Given the description of an element on the screen output the (x, y) to click on. 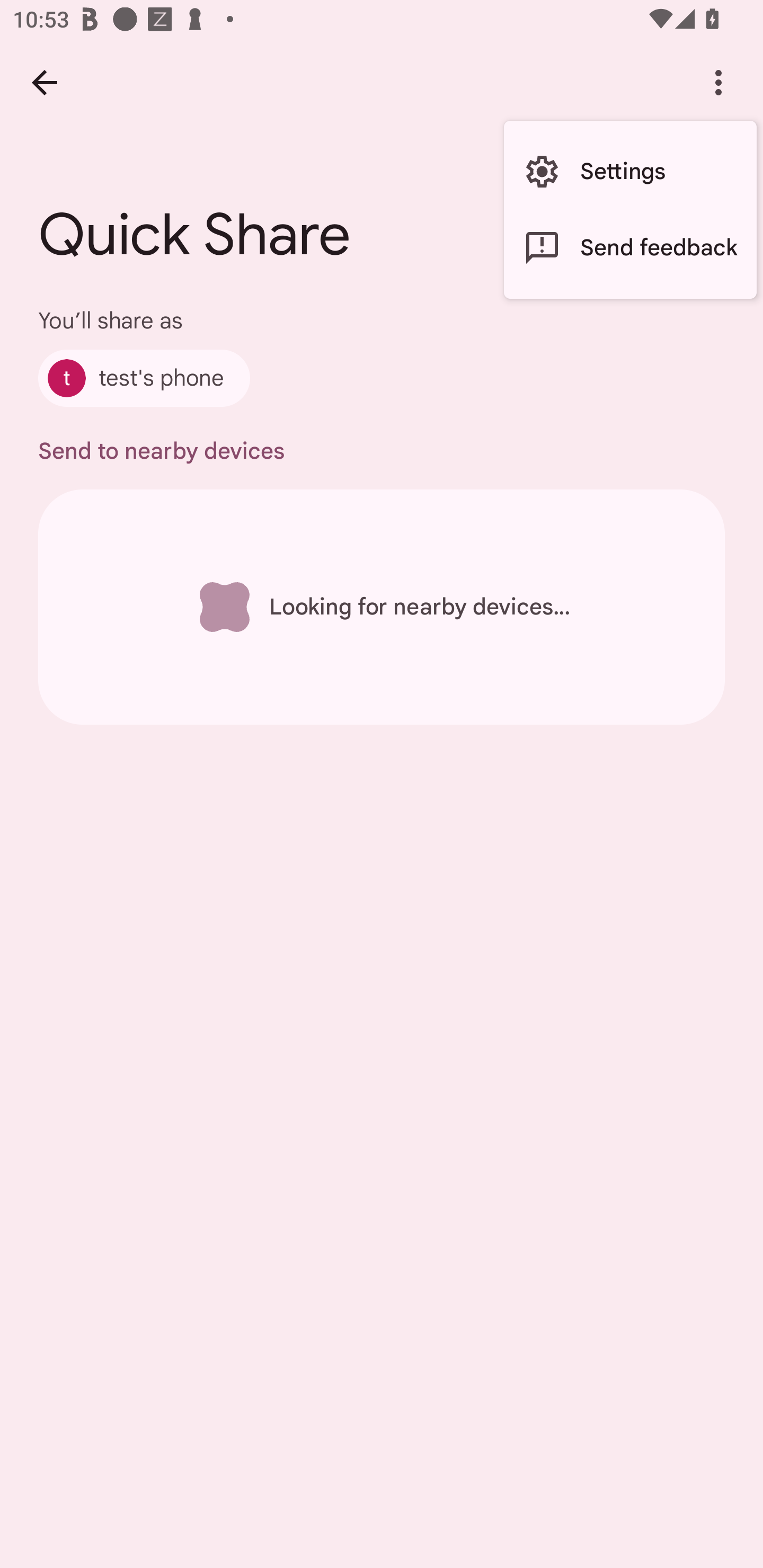
Settings (629, 171)
Send feedback (629, 247)
